Given the description of an element on the screen output the (x, y) to click on. 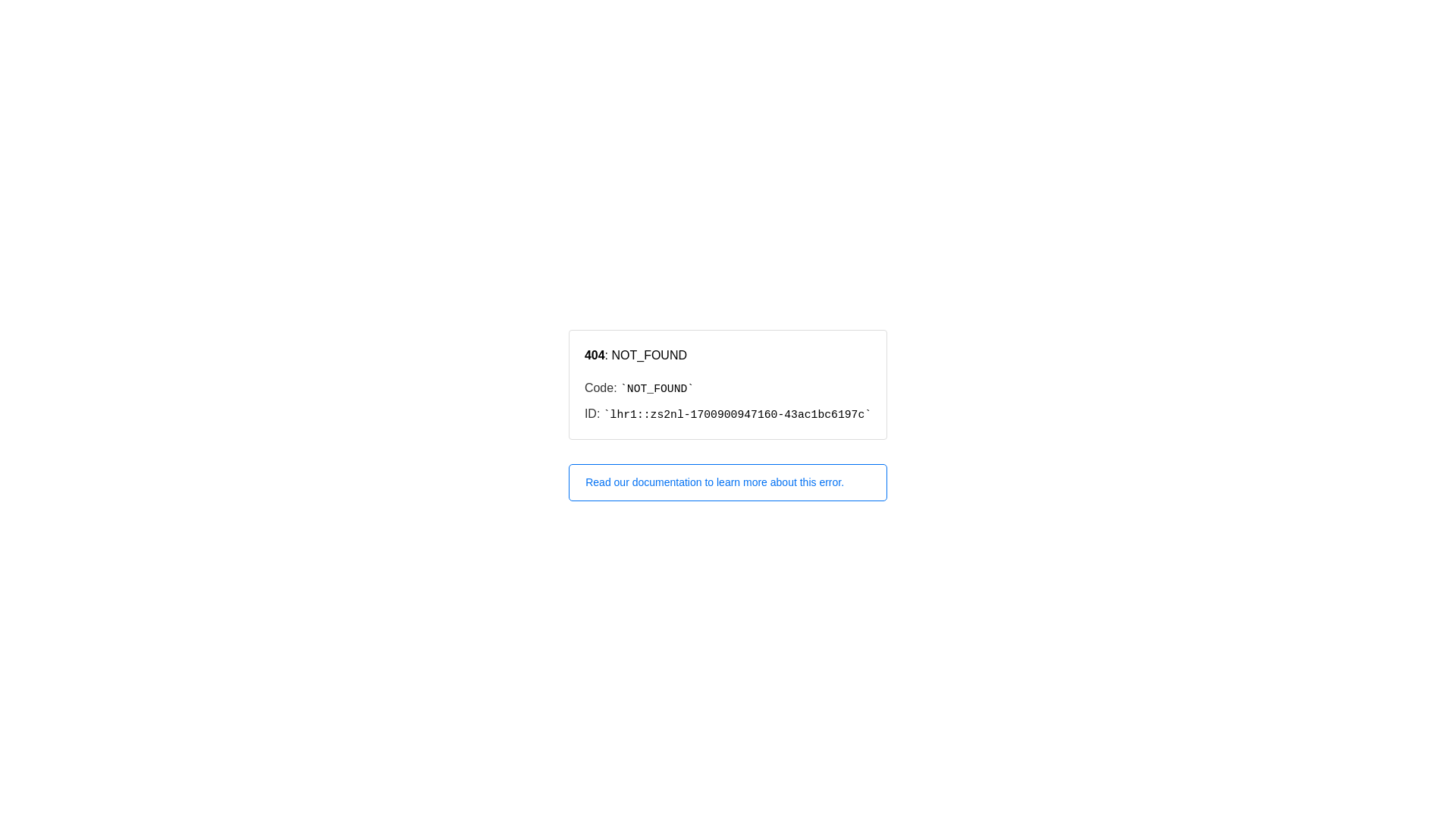
Read our documentation to learn more about this error. Element type: text (727, 482)
